Given the description of an element on the screen output the (x, y) to click on. 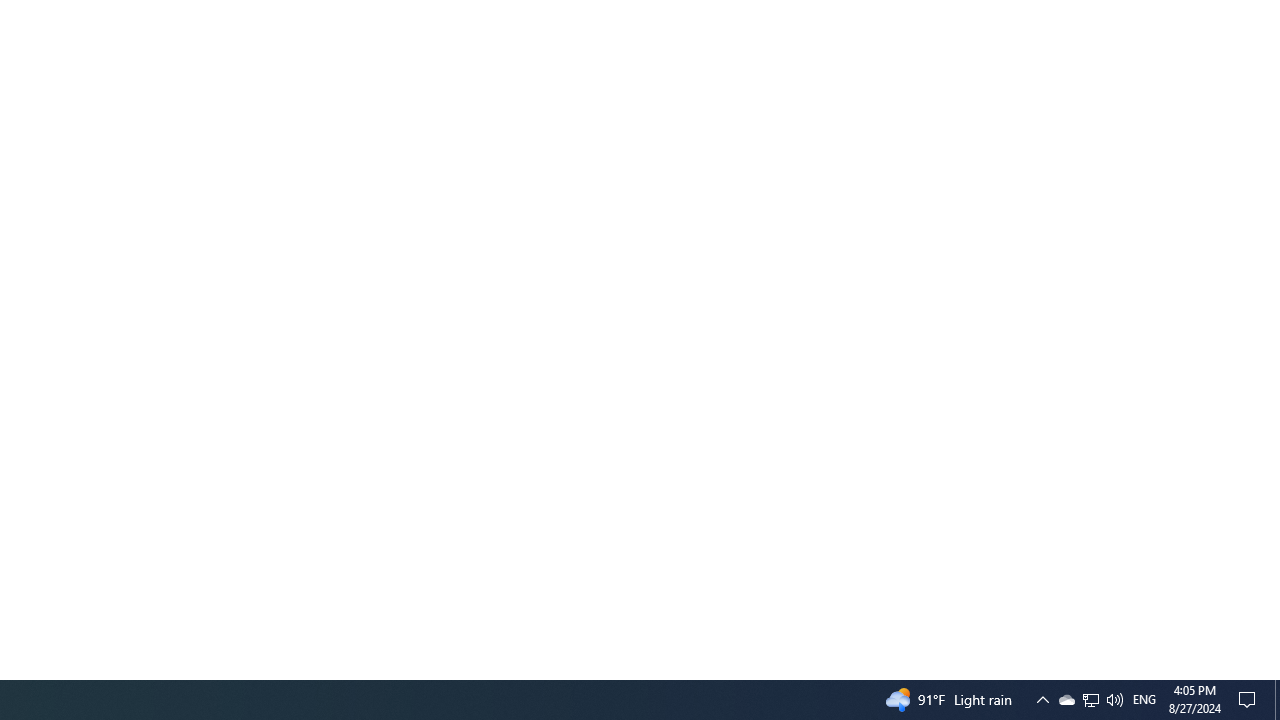
Action Center, No new notifications (1250, 699)
Q2790: 100% (1114, 699)
Notification Chevron (1042, 699)
User Promoted Notification Area (1090, 699)
Show desktop (1091, 699)
Tray Input Indicator - English (United States) (1277, 699)
